Given the description of an element on the screen output the (x, y) to click on. 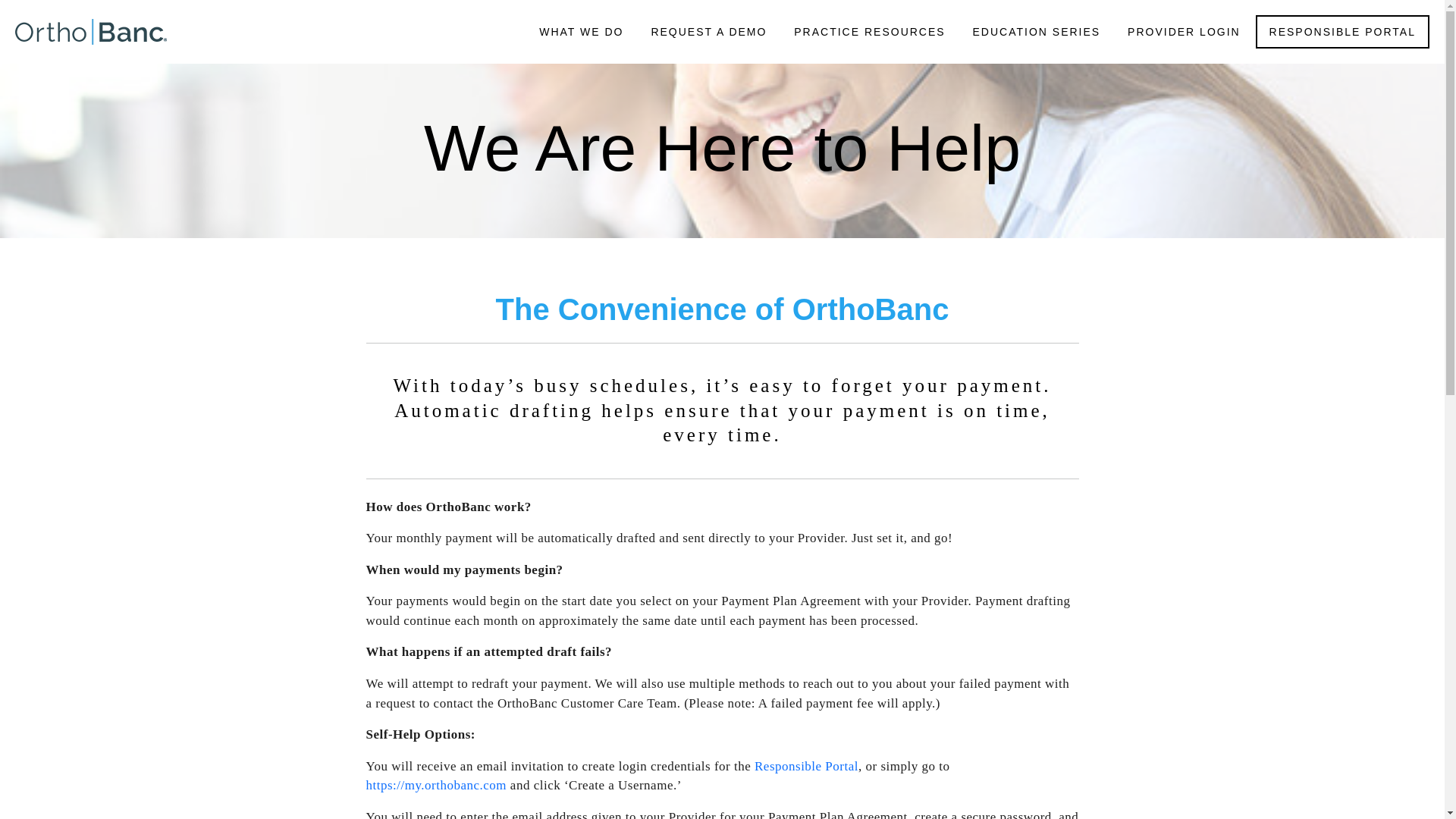
PROVIDER LOGIN (1183, 31)
PRACTICE RESOURCES (868, 31)
EDUCATION SERIES (1036, 31)
RESPONSIBLE PORTAL (1342, 31)
WHAT WE DO (580, 31)
Logo (109, 31)
REQUEST A DEMO (708, 31)
Responsible Portal (806, 766)
